Given the description of an element on the screen output the (x, y) to click on. 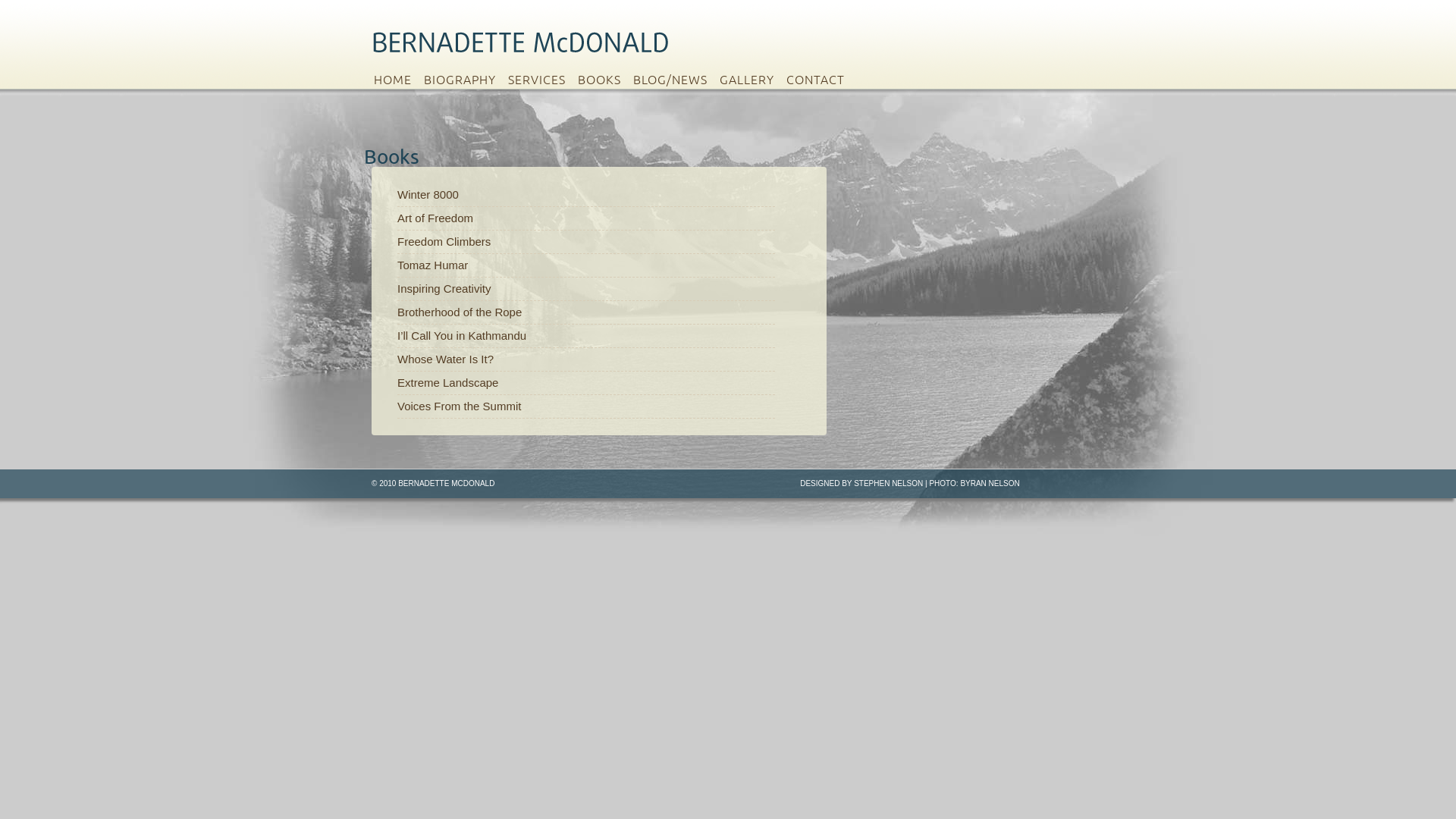
SERVICES Element type: text (540, 78)
Extreme Landscape Element type: text (447, 382)
Whose Water Is It? Element type: text (445, 358)
HOME Element type: text (396, 78)
Freedom Climbers Element type: text (443, 241)
Art of Freedom Element type: text (435, 217)
Brotherhood of the Rope Element type: text (459, 311)
GALLERY Element type: text (750, 78)
STEPHEN NELSON Element type: text (887, 483)
BLOG/NEWS Element type: text (673, 78)
BYRAN NELSON Element type: text (989, 483)
CONTACT Element type: text (819, 78)
BOOKS Element type: text (602, 78)
Winter 8000 Element type: text (427, 194)
Tomaz Humar Element type: text (432, 264)
Voices From the Summit Element type: text (458, 405)
BIOGRAPHY Element type: text (463, 78)
Inspiring Creativity Element type: text (443, 288)
